Given the description of an element on the screen output the (x, y) to click on. 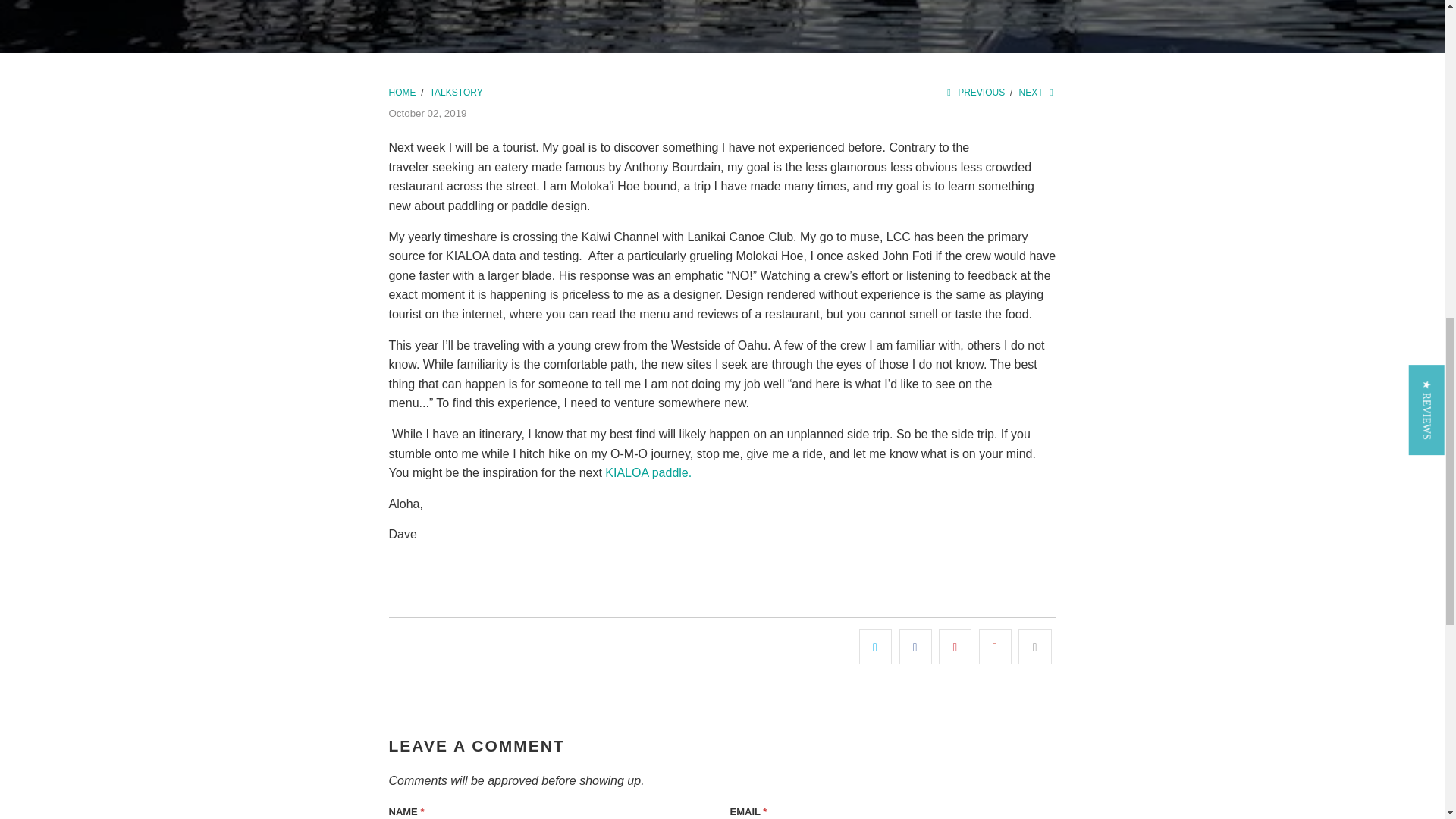
Share this on Facebook (915, 646)
KIALOA (401, 91)
Share this on Twitter (875, 646)
TalkStory (456, 91)
